Given the description of an element on the screen output the (x, y) to click on. 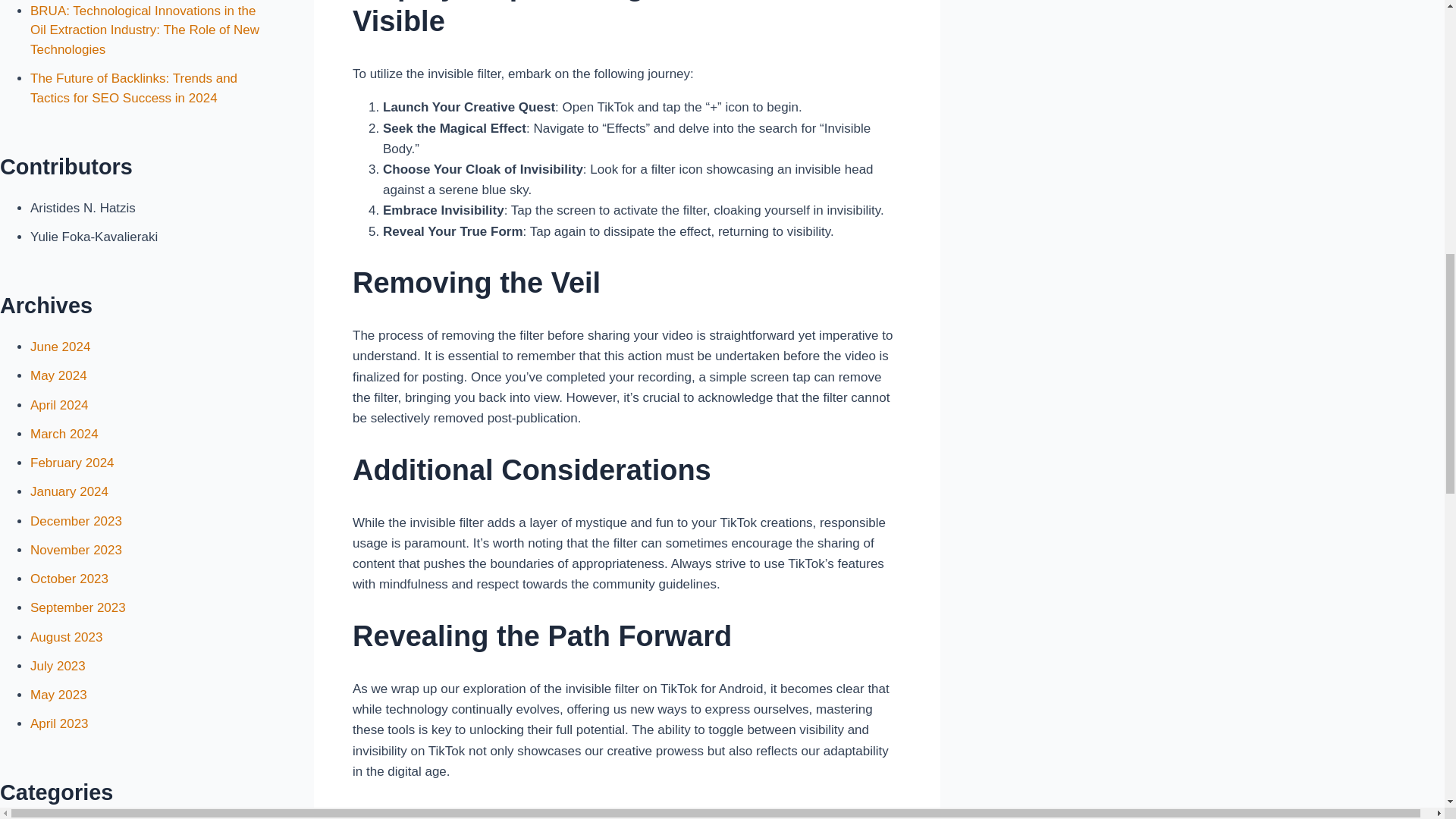
February 2024 (72, 462)
June 2024 (60, 346)
March 2024 (64, 433)
August 2023 (65, 636)
April 2023 (59, 723)
October 2023 (68, 578)
November 2023 (76, 549)
July 2023 (57, 666)
January 2024 (68, 491)
September 2023 (77, 607)
December 2023 (76, 521)
April 2024 (59, 405)
May 2023 (58, 694)
